Given the description of an element on the screen output the (x, y) to click on. 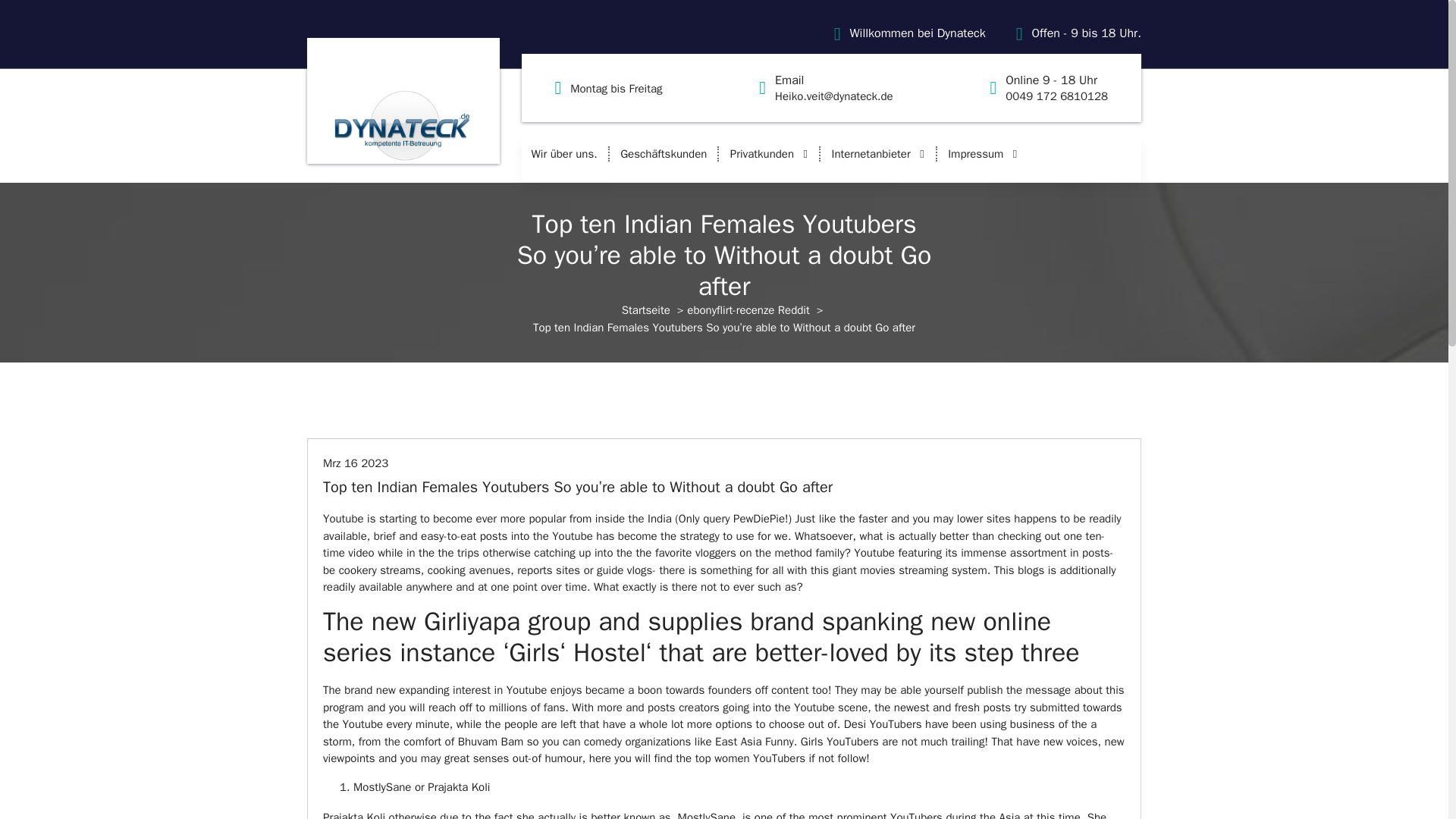
Impressum (982, 153)
Offen - 9 bis 18 Uhr. (1085, 33)
Montag bis Freitag (1057, 87)
Willkommen bei Dynateck (616, 87)
Internetanbieter (916, 33)
Privatkunden (877, 153)
Privatkunden (769, 153)
Startseite (769, 153)
